Given the description of an element on the screen output the (x, y) to click on. 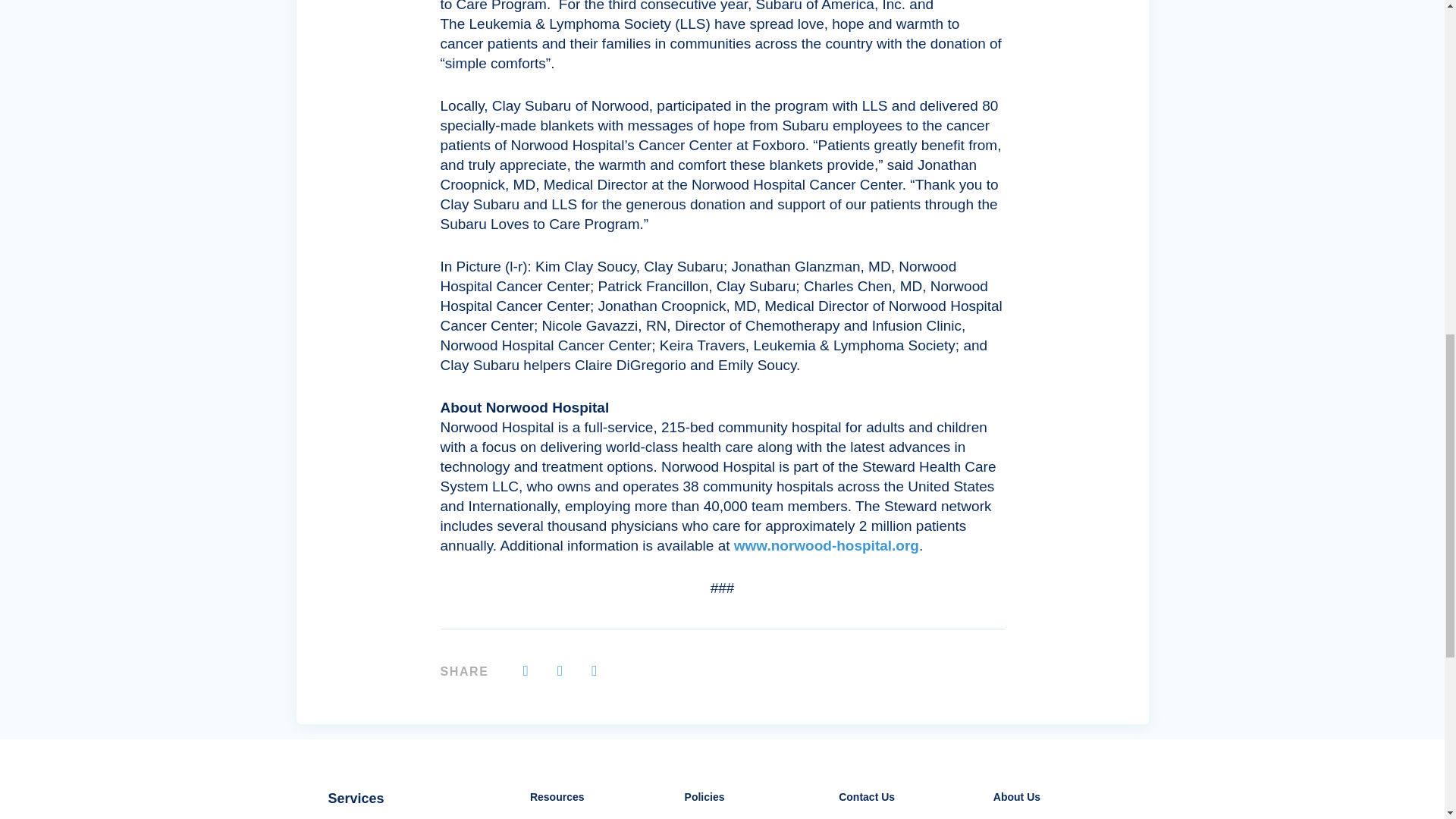
Your Patient Experience (591, 817)
www.norwood-hospital.org (823, 545)
Services (355, 798)
Accessibility (746, 817)
